Given the description of an element on the screen output the (x, y) to click on. 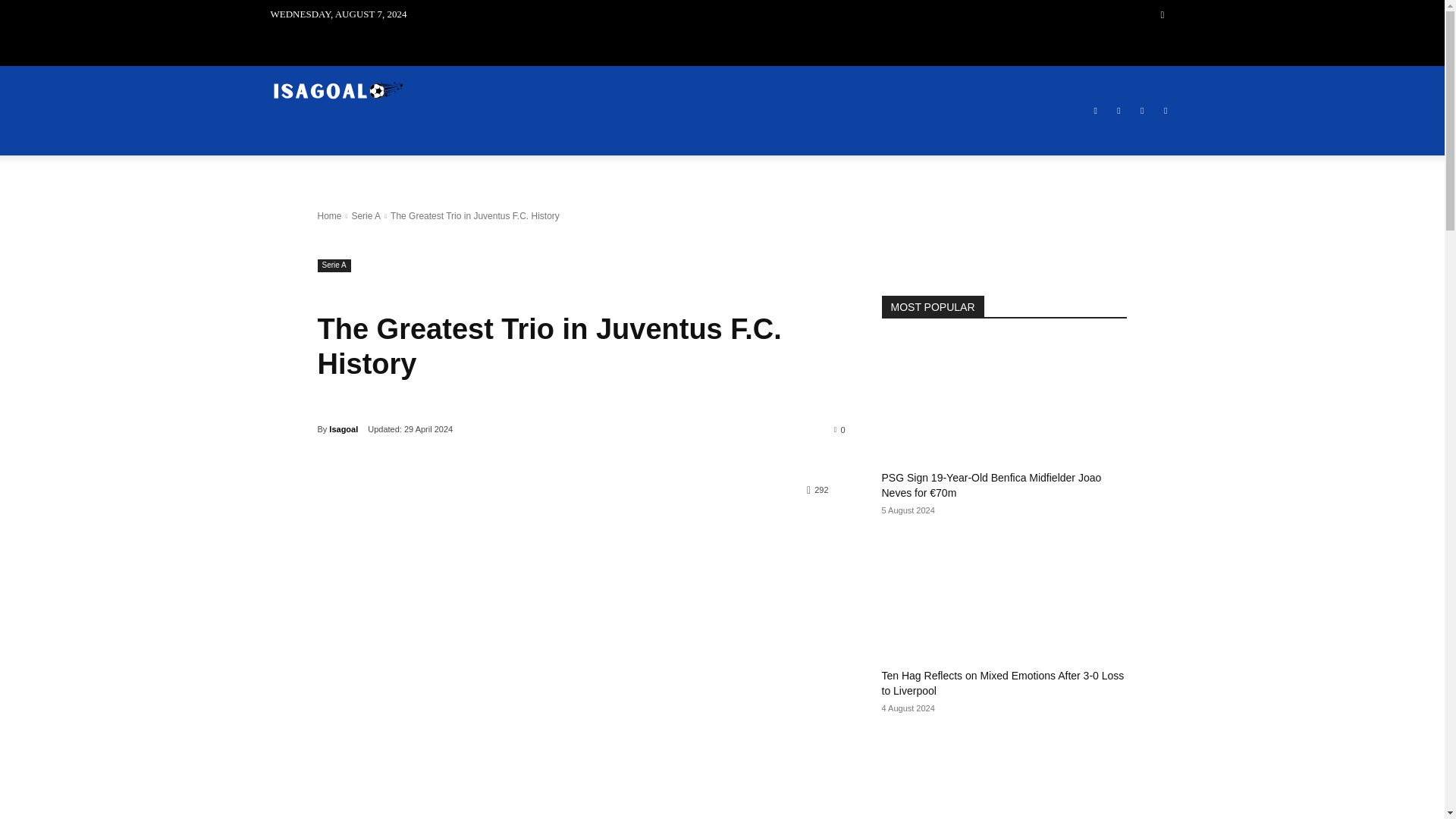
Facebook (1094, 110)
Twitter (1142, 110)
Youtube (1165, 110)
Home (328, 215)
View all posts in Serie A (365, 215)
Instagram (1117, 110)
